Given the description of an element on the screen output the (x, y) to click on. 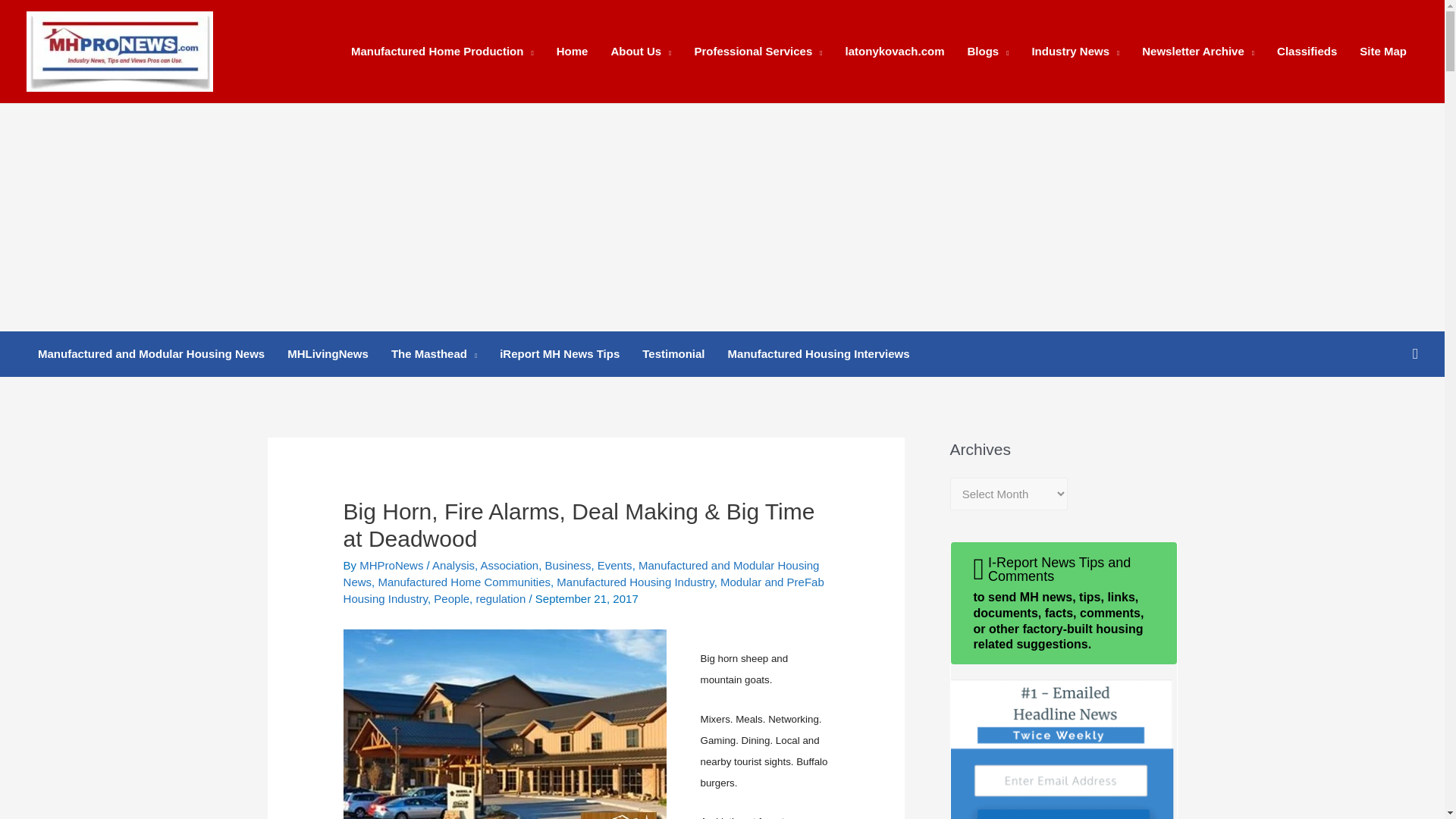
Industry News (1075, 51)
Classifieds (1306, 51)
latonykovach.com (895, 51)
Newsletter Archive (1198, 51)
Professional Services (757, 51)
View all posts by MHProNews (392, 564)
Manufactured Home Production (441, 51)
Site Map (1383, 51)
Home (571, 51)
About Us (640, 51)
Blogs (987, 51)
